Given the description of an element on the screen output the (x, y) to click on. 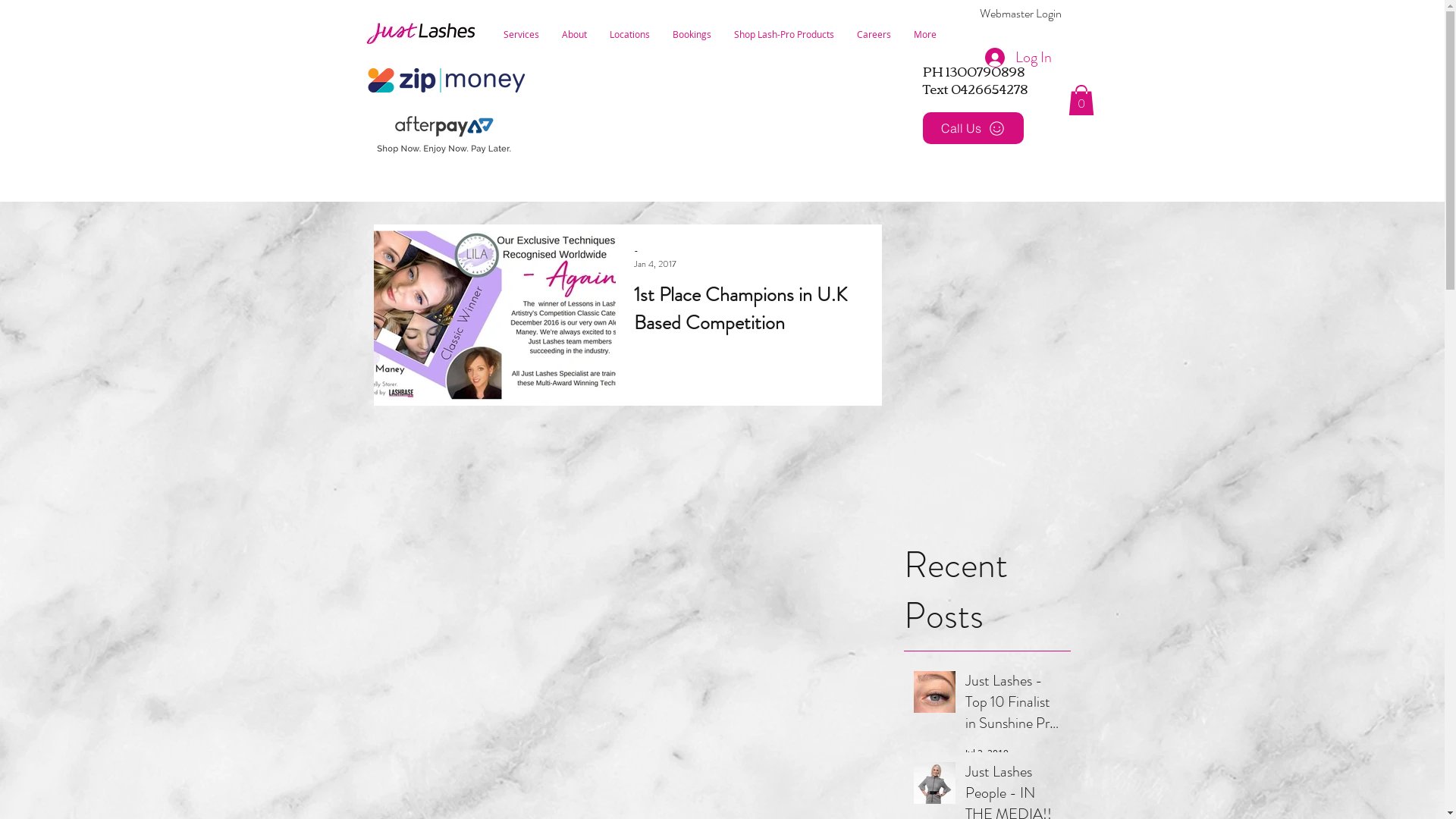
Call Us Element type: text (972, 128)
Webmaster Login Element type: text (1020, 13)
1st Place Champions in U.K Based Competition Element type: text (748, 312)
0 Element type: text (1080, 100)
Shop Lash-Pro Products Element type: text (782, 33)
Log In Element type: text (1017, 57)
Bookings Element type: text (691, 33)
- Element type: text (654, 249)
